Given the description of an element on the screen output the (x, y) to click on. 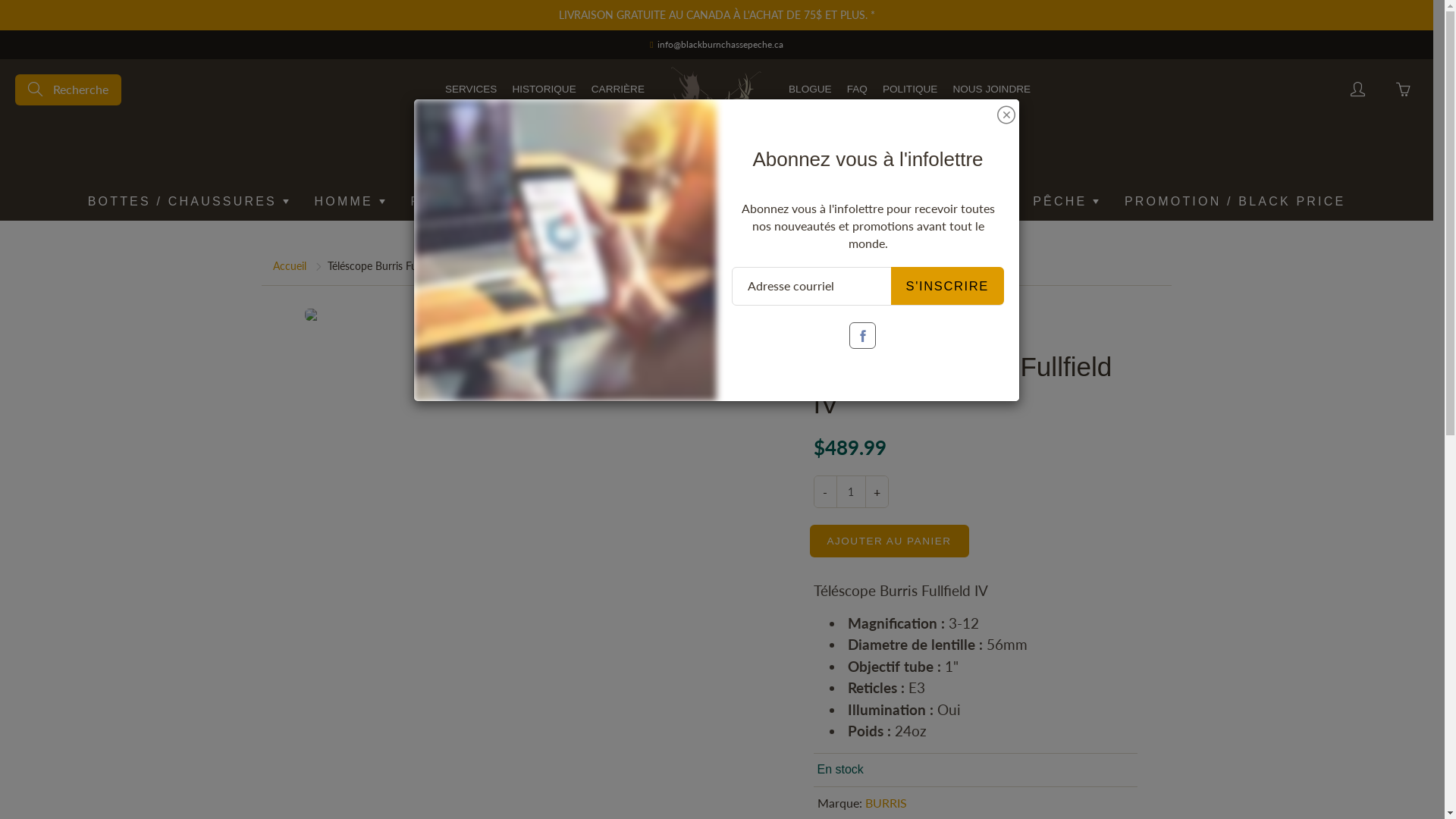
Accueil Element type: text (289, 265)
You have 0 items in your cart Element type: text (1402, 89)
+ Element type: text (877, 491)
PROMOTION / BLACK PRICE Element type: text (1234, 201)
HOMME Element type: text (349, 201)
- Element type: text (825, 491)
SERVICES Element type: text (471, 89)
POLITIQUE Element type: text (910, 89)
CHASSE Element type: text (968, 201)
PLEIN AIR Element type: text (549, 201)
info@blackburnchassepeche.ca Element type: text (720, 44)
BOTTES / CHAUSSURES Element type: text (188, 201)
BURRIS Element type: text (885, 802)
FAQ Element type: text (857, 89)
BLOGUE Element type: text (810, 89)
PARTAGER Element type: text (529, 371)
Search Element type: text (35, 89)
NOUS JOINDRE Element type: text (991, 89)
Facebook Element type: hover (862, 335)
My account Element type: text (1357, 89)
FEMME Element type: text (444, 201)
HISTORIQUE Element type: text (543, 89)
S'INSCRIRE Element type: text (947, 285)
AJOUTER AU PANIER Element type: text (889, 541)
